Given the description of an element on the screen output the (x, y) to click on. 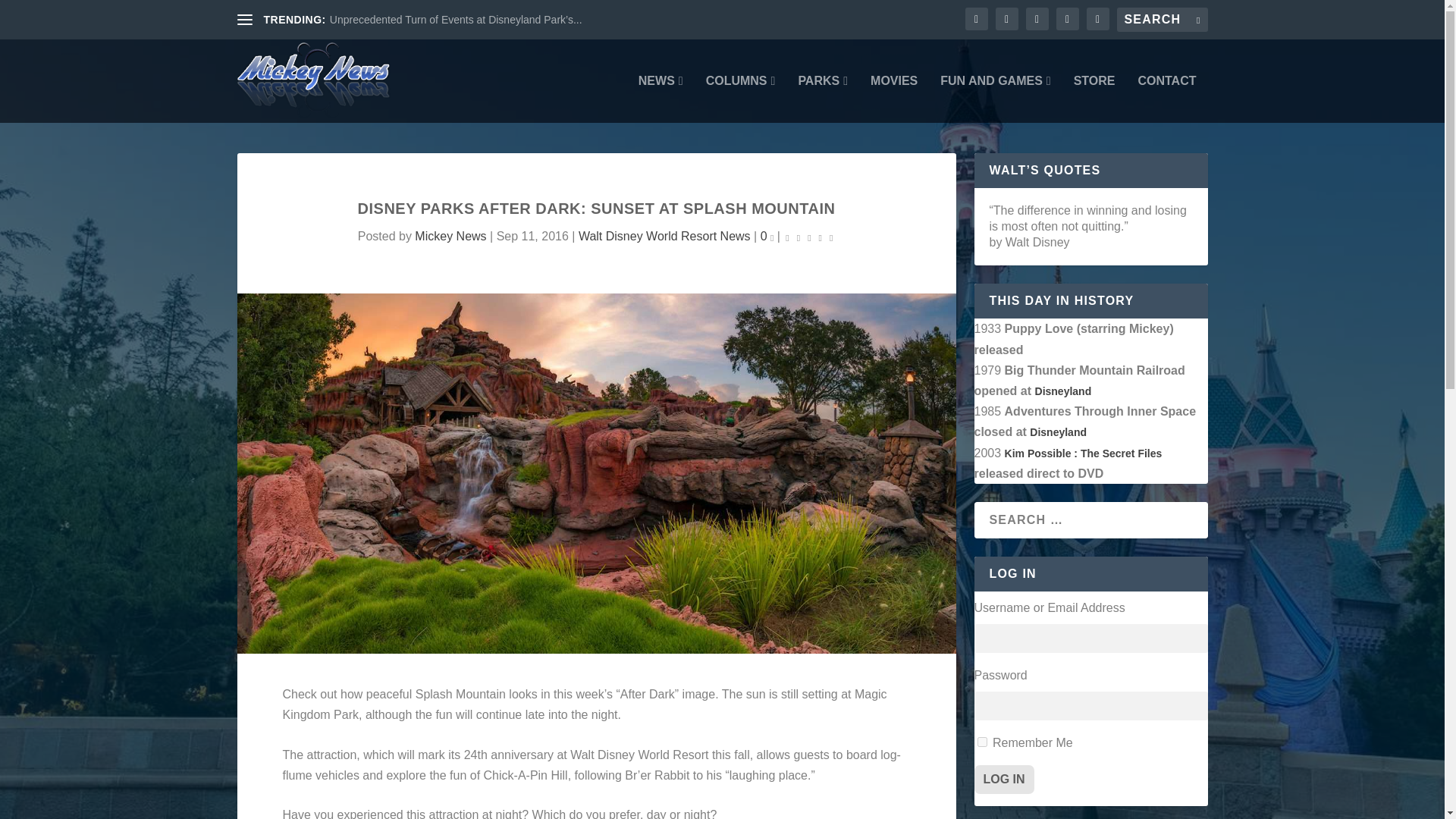
COLUMNS (741, 98)
PARKS (822, 98)
Rating: 0.00 (808, 237)
NEWS (660, 98)
Posts by Mickey News (450, 236)
Search for: (1161, 19)
forever (981, 741)
